Given the description of an element on the screen output the (x, y) to click on. 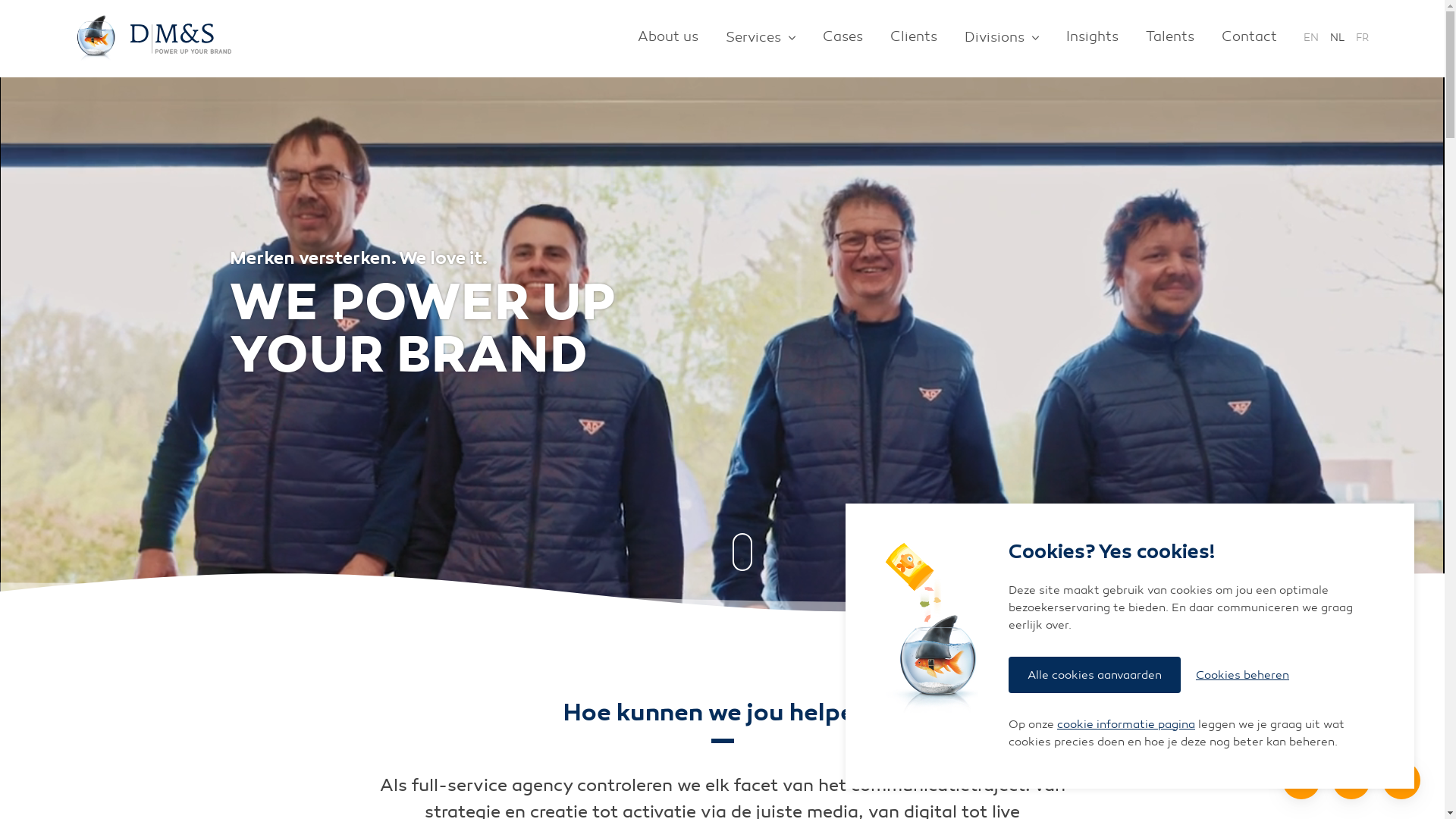
Standenbouw Element type: text (1110, 571)
Video & Motion Graphics Element type: text (518, 520)
Beurzen Element type: text (1110, 470)
E-Commerce Element type: text (913, 520)
Partner Engagement Element type: text (321, 538)
Contact Element type: text (1242, 38)
Events Element type: text (1110, 444)
Hybride Events Element type: text (1110, 546)
Insights Element type: text (1092, 38)
Instagram Element type: text (286, 773)
Cases Element type: text (842, 38)
Digital Element type: text (845, 410)
FR Element type: text (1361, 34)
Data & Intelligence Element type: text (321, 487)
Location Element type: text (1301, 780)
Congressen & Seminaries Element type: text (1110, 495)
Roadshows Element type: text (1110, 596)
Media Element type: text (646, 410)
Privacy policy Element type: text (743, 773)
Above The Line Element type: text (716, 571)
Cookieverklaring Element type: text (642, 773)
cookie informatie pagina Element type: text (1126, 724)
Leadgen Element type: text (321, 512)
Strategy & Innovation Element type: text (311, 410)
Branding & Campaigns Element type: text (518, 444)
Live Element type: text (1032, 410)
NL Element type: text (1337, 34)
POS & Packaging Element type: text (518, 546)
LinkedIn Element type: text (235, 773)
Services Element type: text (760, 38)
About us Element type: text (668, 38)
Marketing Automation Element type: text (913, 571)
EN Element type: text (1310, 34)
Facebook Element type: text (260, 773)
Alle cookies aanvaarden Element type: text (1094, 674)
Divisions Element type: text (1001, 38)
Talents Element type: text (1170, 38)
Employer Branding Element type: text (321, 563)
Intranet & Extranet Element type: text (913, 546)
Mail Element type: text (1351, 780)
Loyalty Platforms Element type: text (913, 495)
Phone Element type: text (1401, 780)
Branding & Content Element type: text (499, 410)
Influencer Marketing Element type: text (716, 495)
Brand & Communication Strategy Element type: text (321, 453)
Clients Element type: text (913, 38)
Webapplicaties Element type: text (913, 470)
Websites Element type: text (913, 444)
Branding & Graphics Element type: text (518, 470)
Incentives Element type: text (1110, 520)
Social Media Advertising Element type: text (716, 470)
Pers Element type: text (716, 520)
Sportmarketing Element type: text (716, 546)
Search engine marketing Element type: text (716, 444)
Content Creation Element type: text (518, 495)
Disclaimer Element type: text (549, 773)
Digital Strategy Element type: text (321, 589)
